Given the description of an element on the screen output the (x, y) to click on. 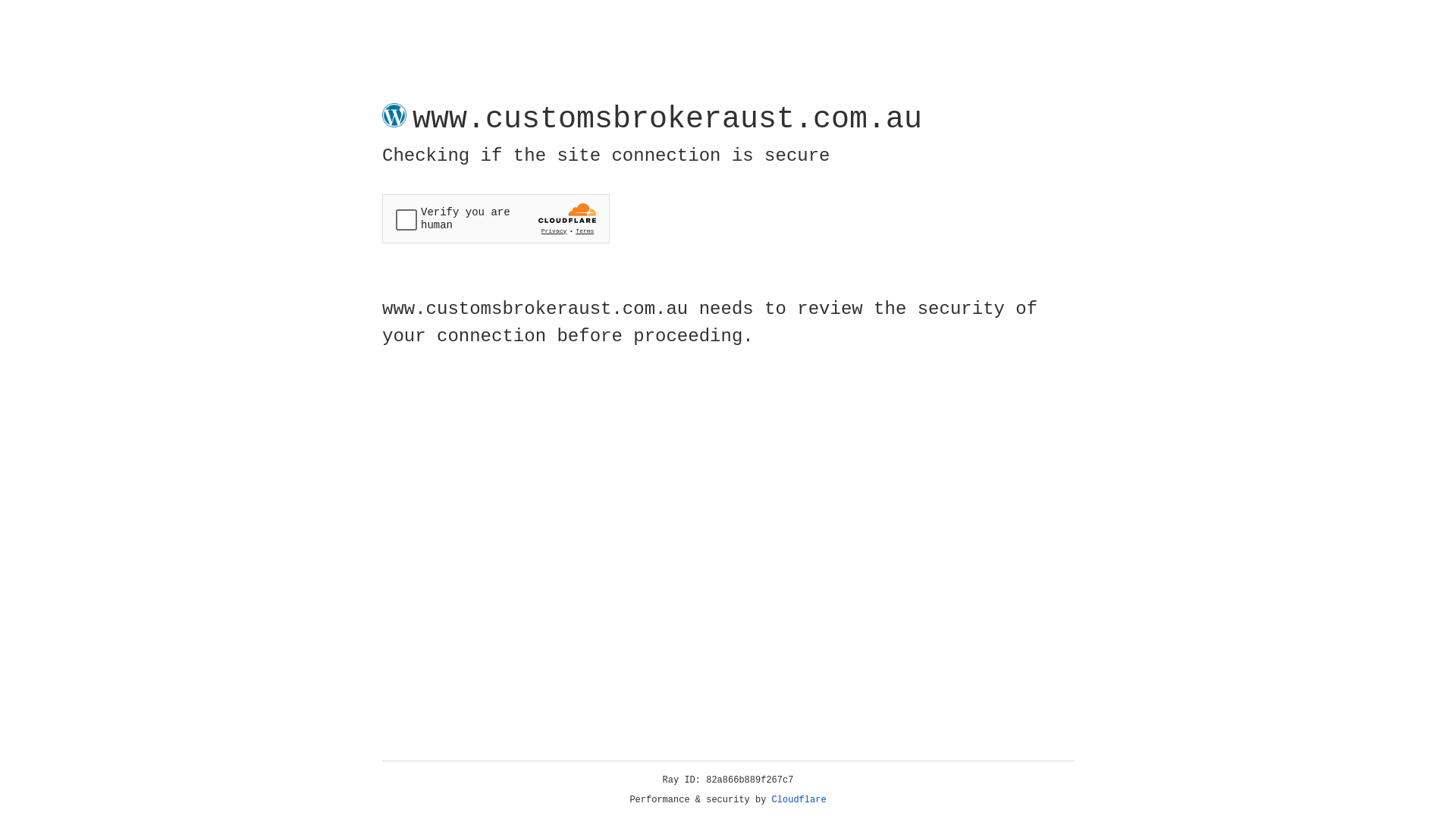
Widget containing a Cloudflare security challenge Element type: hover (495, 218)
Cloudflare Element type: text (798, 799)
